Given the description of an element on the screen output the (x, y) to click on. 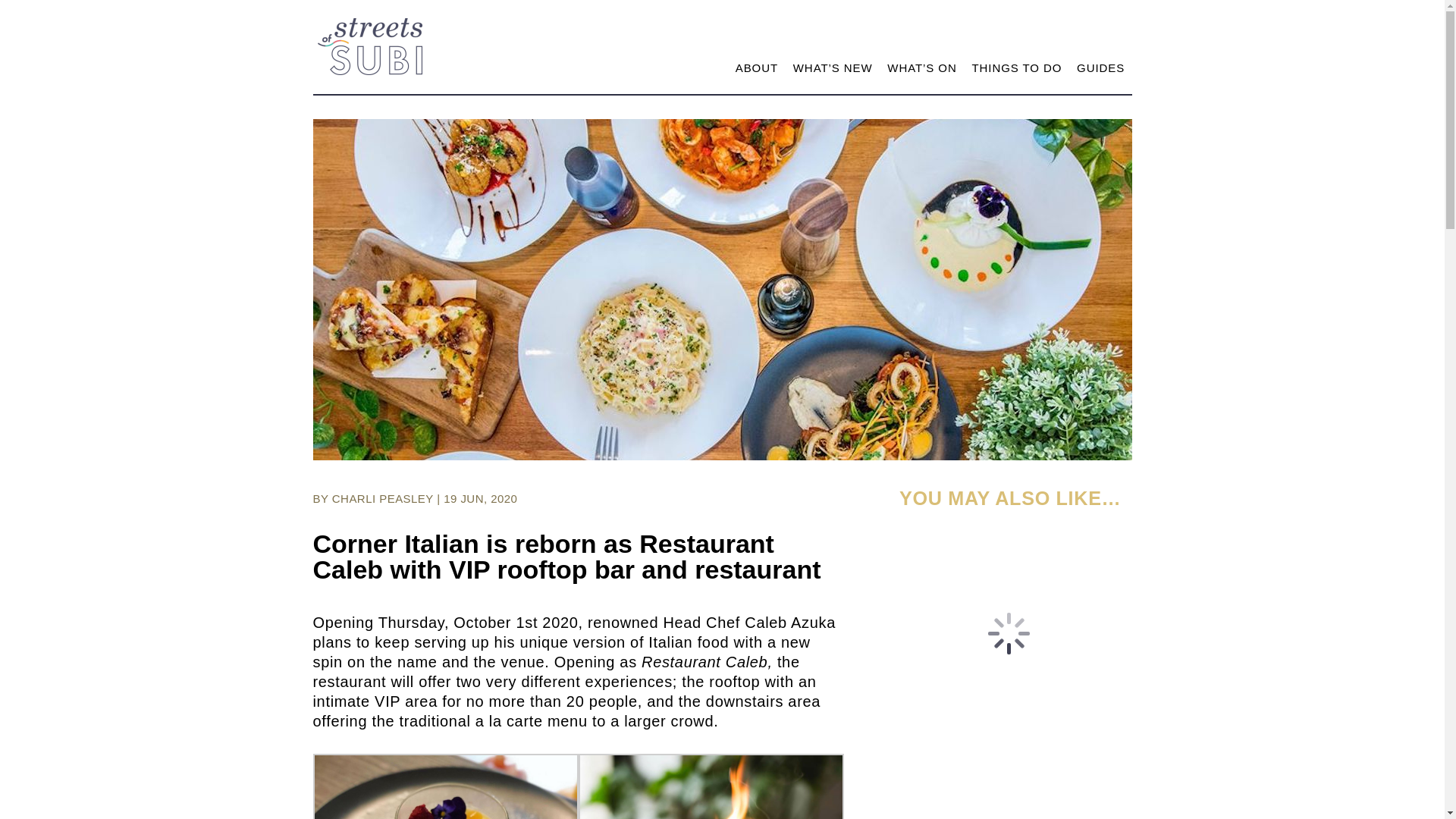
GUIDES (1100, 71)
ABOUT (756, 71)
Posts by Charli Peasley (382, 498)
THINGS TO DO (1016, 71)
streets-of-subi-logo (369, 46)
